Given the description of an element on the screen output the (x, y) to click on. 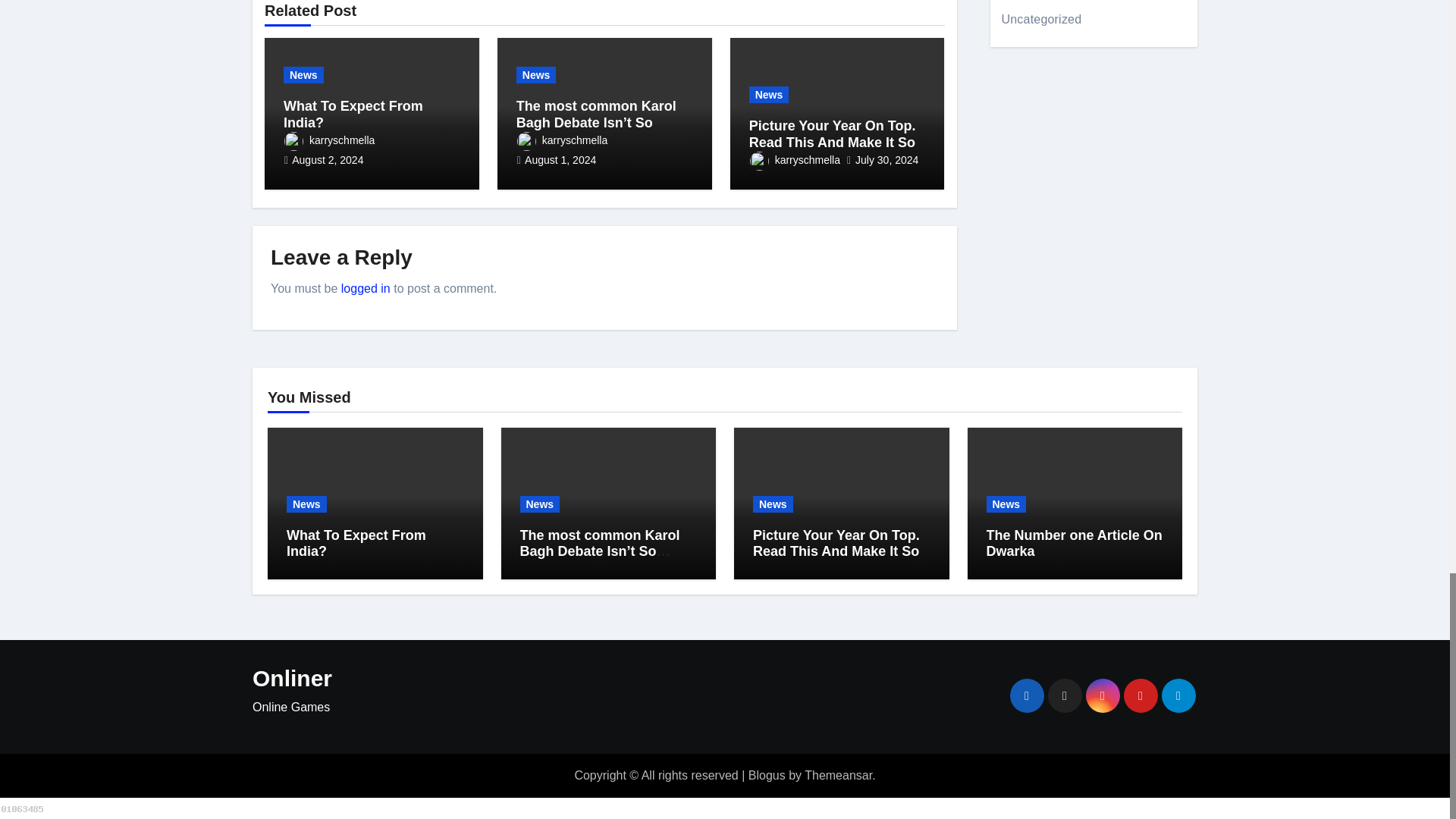
What To Expect From India? (353, 114)
News (303, 74)
Permalink to: What To Expect From India? (356, 543)
Permalink to: The Number one Article On Dwarka (1073, 543)
Permalink to: What To Expect From India? (353, 114)
